Given the description of an element on the screen output the (x, y) to click on. 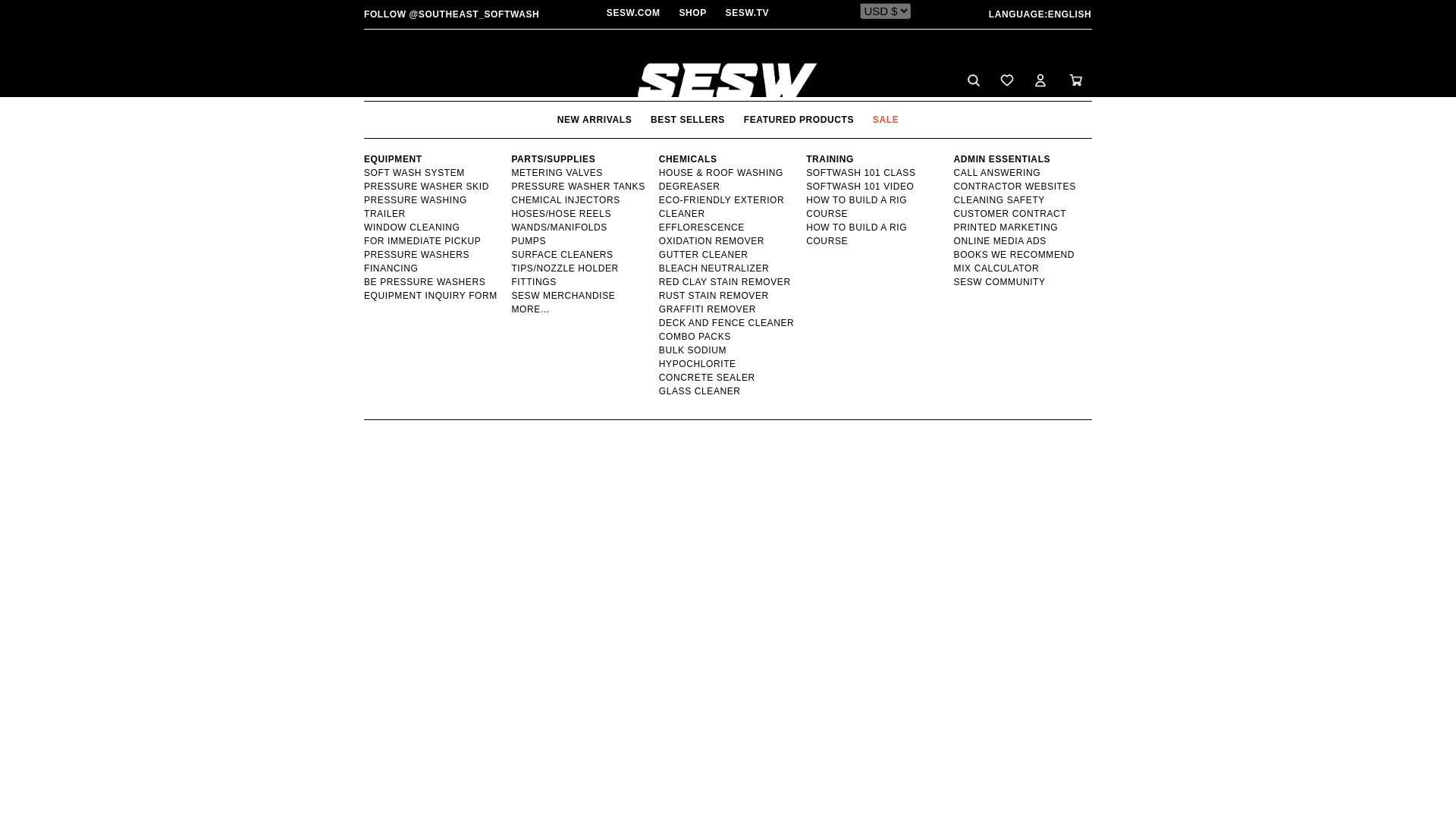
SESW.COM (634, 12)
SESW.TV (747, 12)
Skip to content (45, 17)
LANGUAGE:ENGLISH (1017, 14)
SHOP (692, 12)
